Given the description of an element on the screen output the (x, y) to click on. 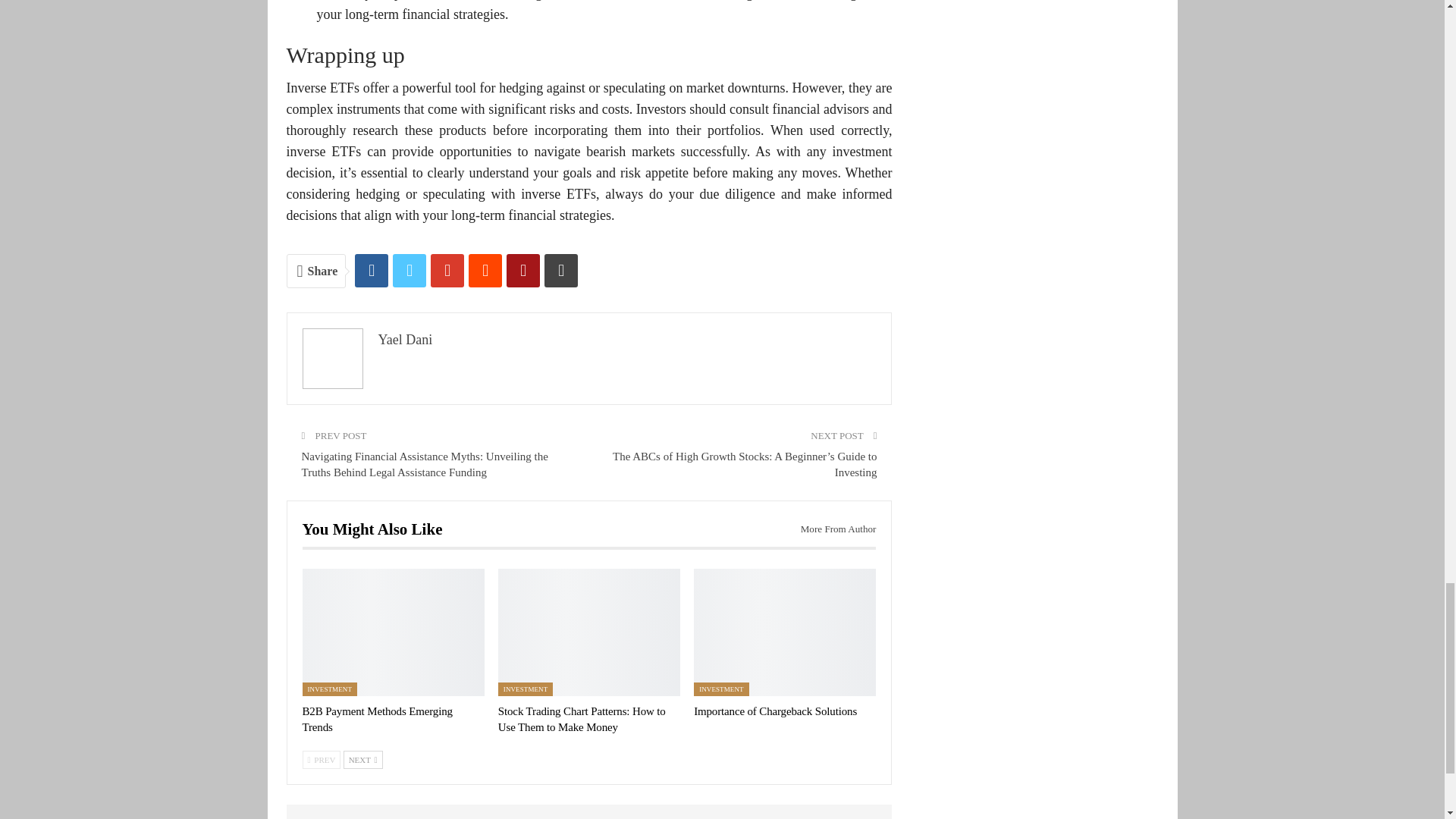
Importance of Chargeback Solutions (775, 711)
Next (362, 760)
B2B Payment Methods Emerging Trends (392, 632)
Importance of Chargeback Solutions (785, 632)
Stock Trading Chart Patterns: How to Use Them to Make Money (588, 632)
Stock Trading Chart Patterns: How to Use Them to Make Money (581, 719)
B2B Payment Methods Emerging Trends (376, 719)
Previous (320, 760)
